Given the description of an element on the screen output the (x, y) to click on. 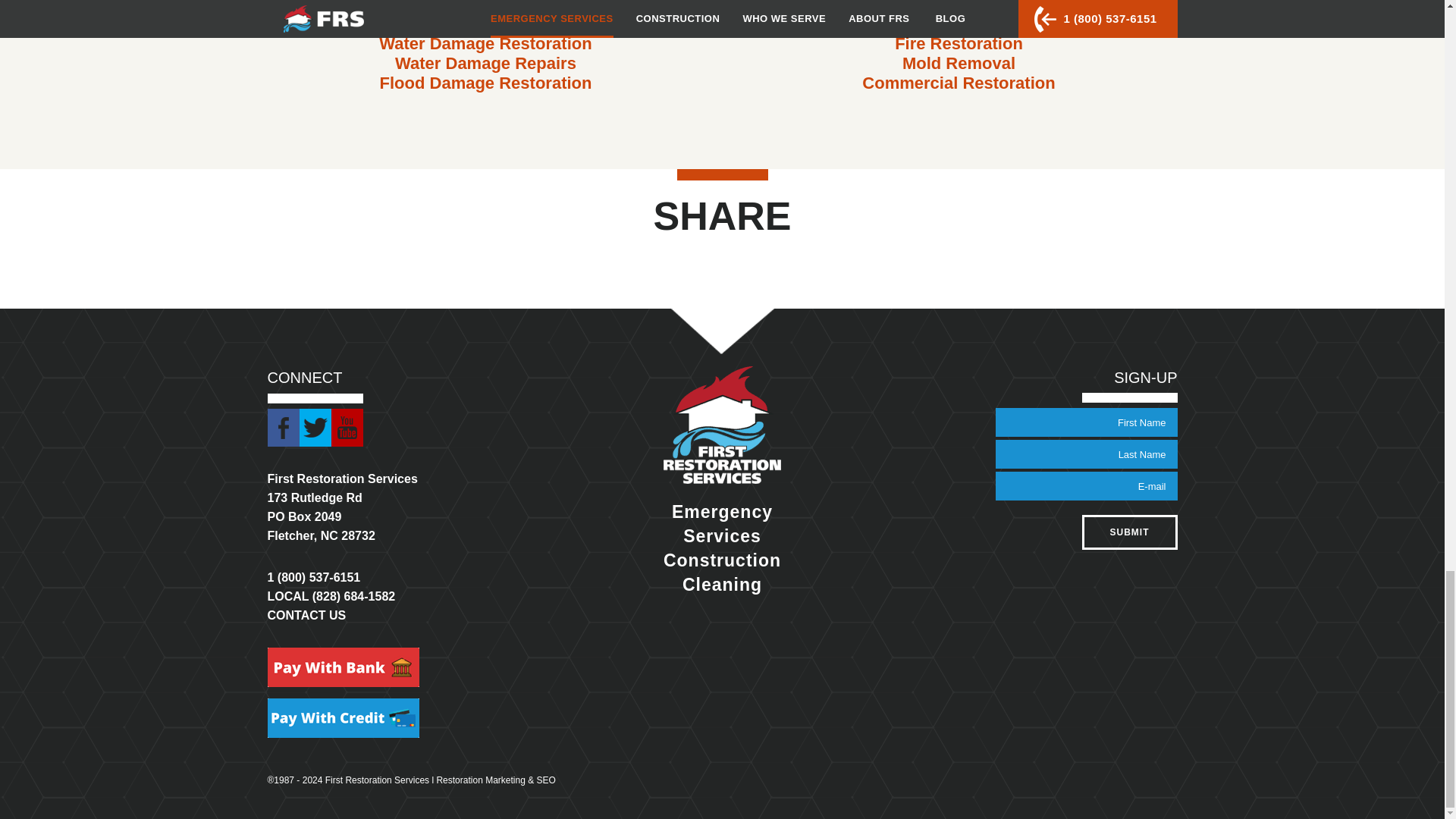
SUBMIT (1128, 532)
